Given the description of an element on the screen output the (x, y) to click on. 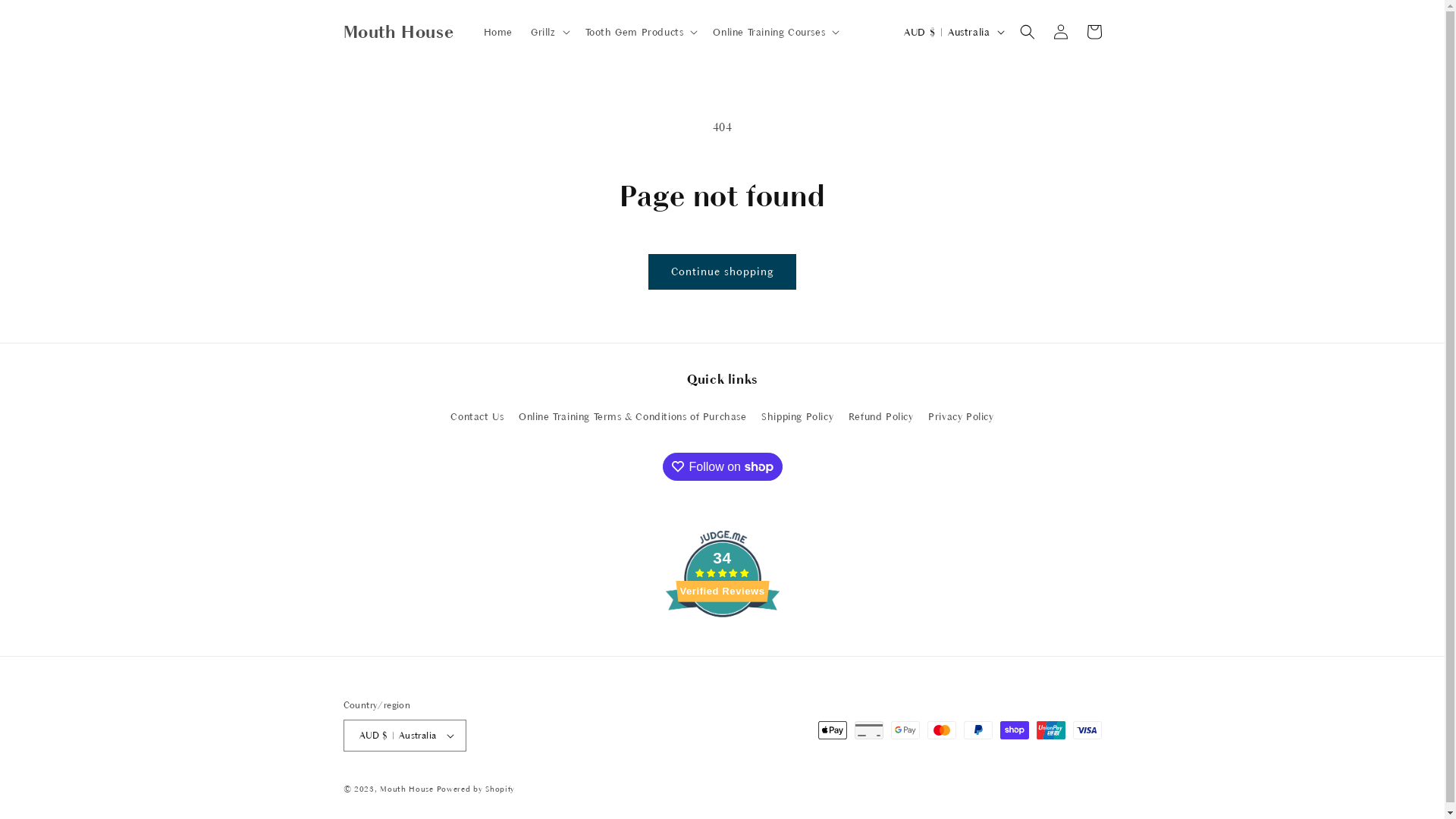
Contact Us Element type: text (476, 418)
Cart Element type: text (1093, 31)
34
Verified Reviews Element type: text (722, 644)
Mouth House Element type: text (406, 788)
AUD $ | Australia Element type: text (404, 735)
Mouth House Element type: text (398, 31)
Log in Element type: text (1059, 31)
Privacy Policy Element type: text (960, 416)
Refund Policy Element type: text (880, 416)
Powered by Shopify Element type: text (475, 788)
Online Training Terms & Conditions of Purchase Element type: text (632, 416)
Continue shopping Element type: text (722, 271)
Shipping Policy Element type: text (797, 416)
AUD $ | Australia Element type: text (952, 31)
Home Element type: text (497, 31)
